Given the description of an element on the screen output the (x, y) to click on. 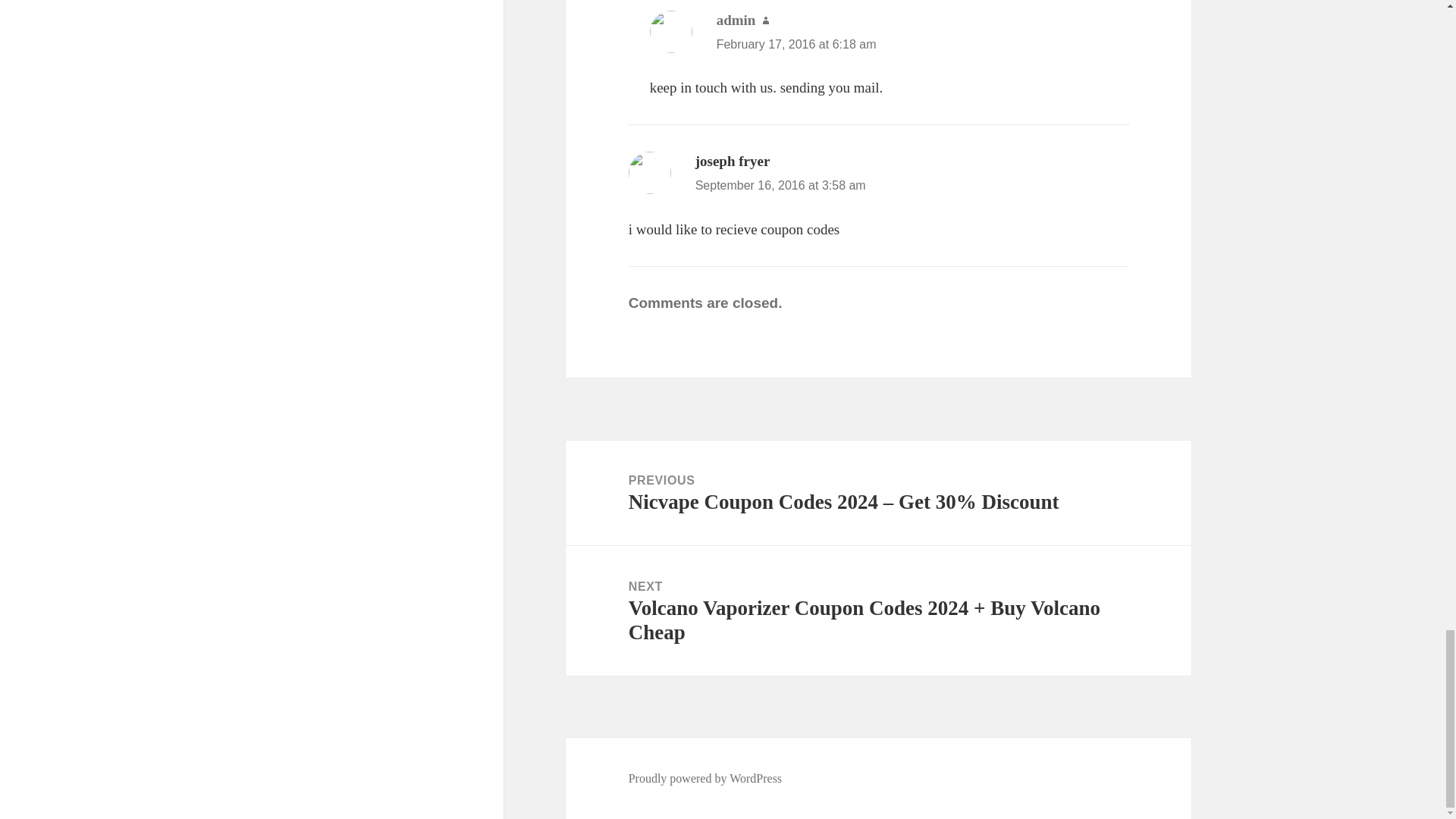
joseph fryer (732, 160)
September 16, 2016 at 3:58 am (780, 185)
February 17, 2016 at 6:18 am (796, 43)
Proudly powered by WordPress (704, 778)
